Given the description of an element on the screen output the (x, y) to click on. 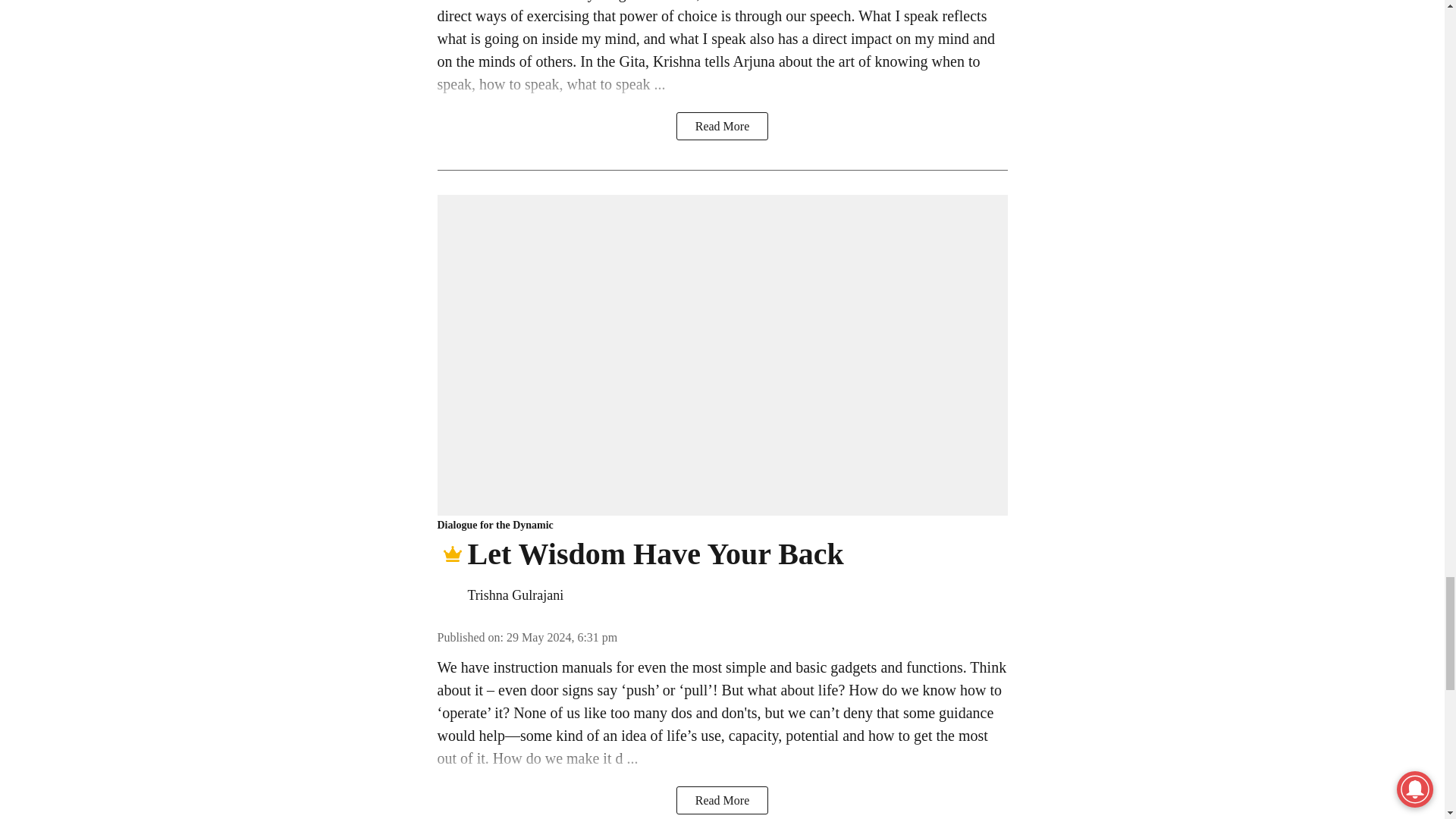
2024-05-29 10:31 (561, 636)
